Given the description of an element on the screen output the (x, y) to click on. 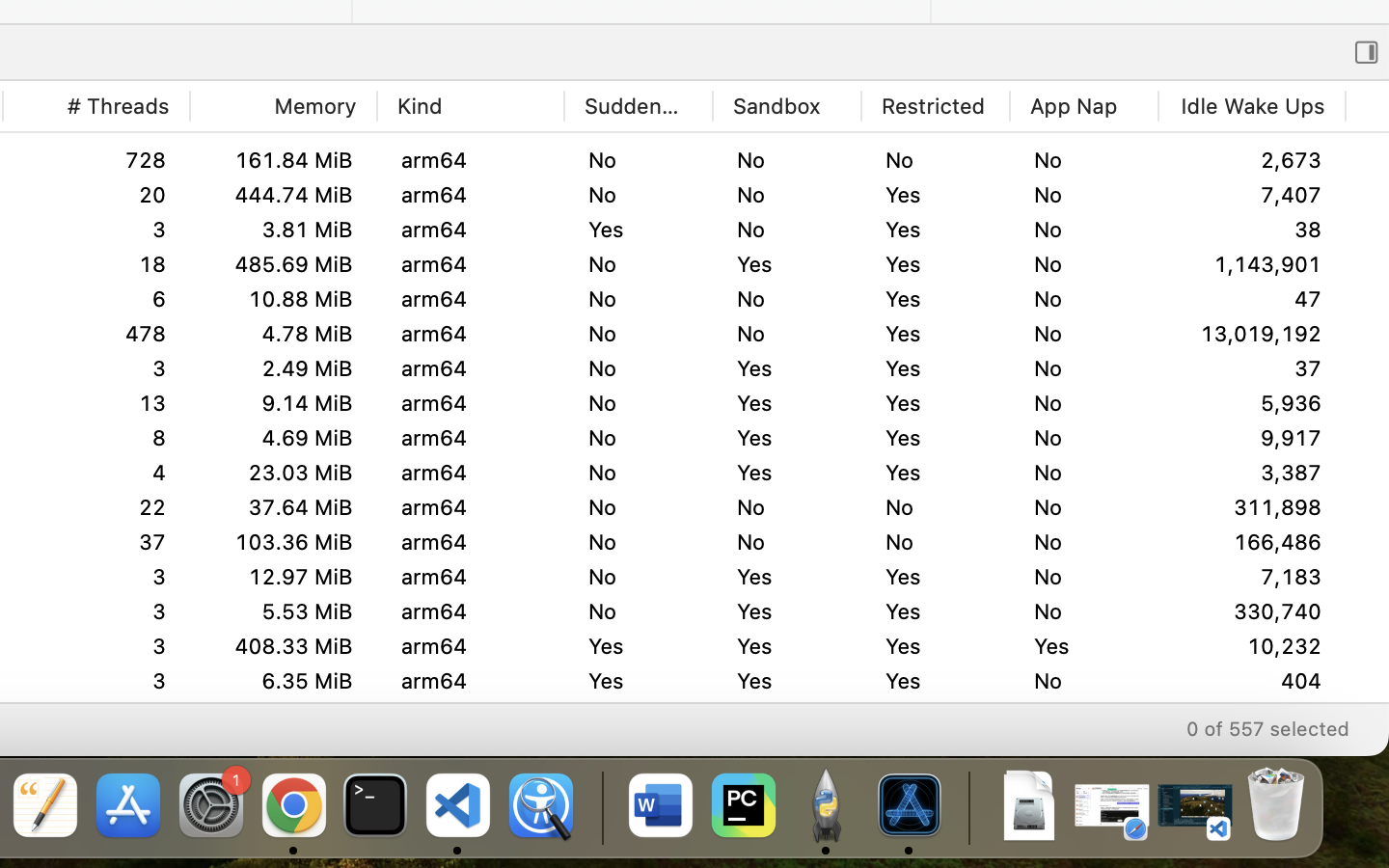
8.77 MiB Element type: AXStaticText (283, 472)
9.24 MiB Element type: AXStaticText (283, 402)
Yes Element type: AXStaticText (935, 437)
5,935 Element type: AXStaticText (1251, 437)
13 Element type: AXStaticText (96, 402)
